Given the description of an element on the screen output the (x, y) to click on. 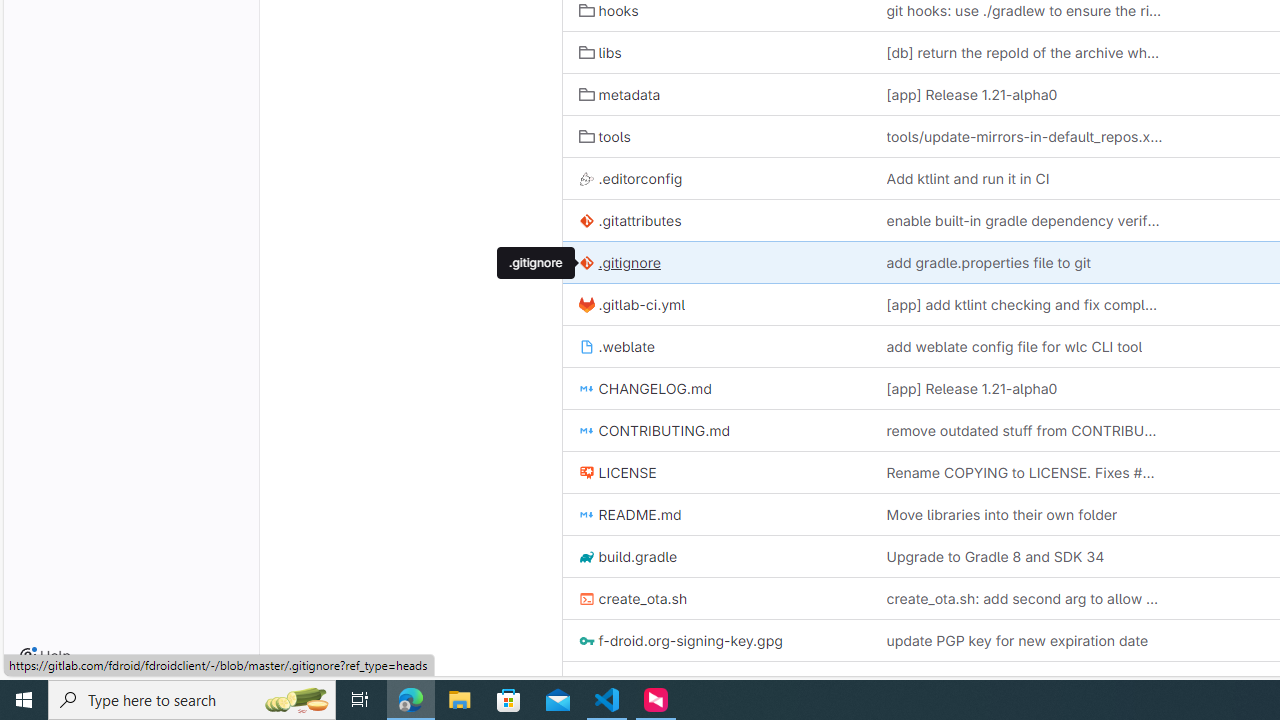
create_ota.sh (715, 597)
remove outdated stuff from CONTRIBUTING.md (1024, 430)
tools (715, 136)
add weblate config file for wlc CLI tool (1024, 345)
.gitignore (535, 262)
.gitignore (715, 262)
LICENSE (715, 471)
Upgrade to Gradle 8 and SDK 34 (994, 556)
[app] Release 1.21-alpha0 (971, 389)
CONTRIBUTING.md (715, 430)
gradle.properties (715, 682)
add gradle.properties file to git (987, 262)
.gitattributes (630, 220)
